Given the description of an element on the screen output the (x, y) to click on. 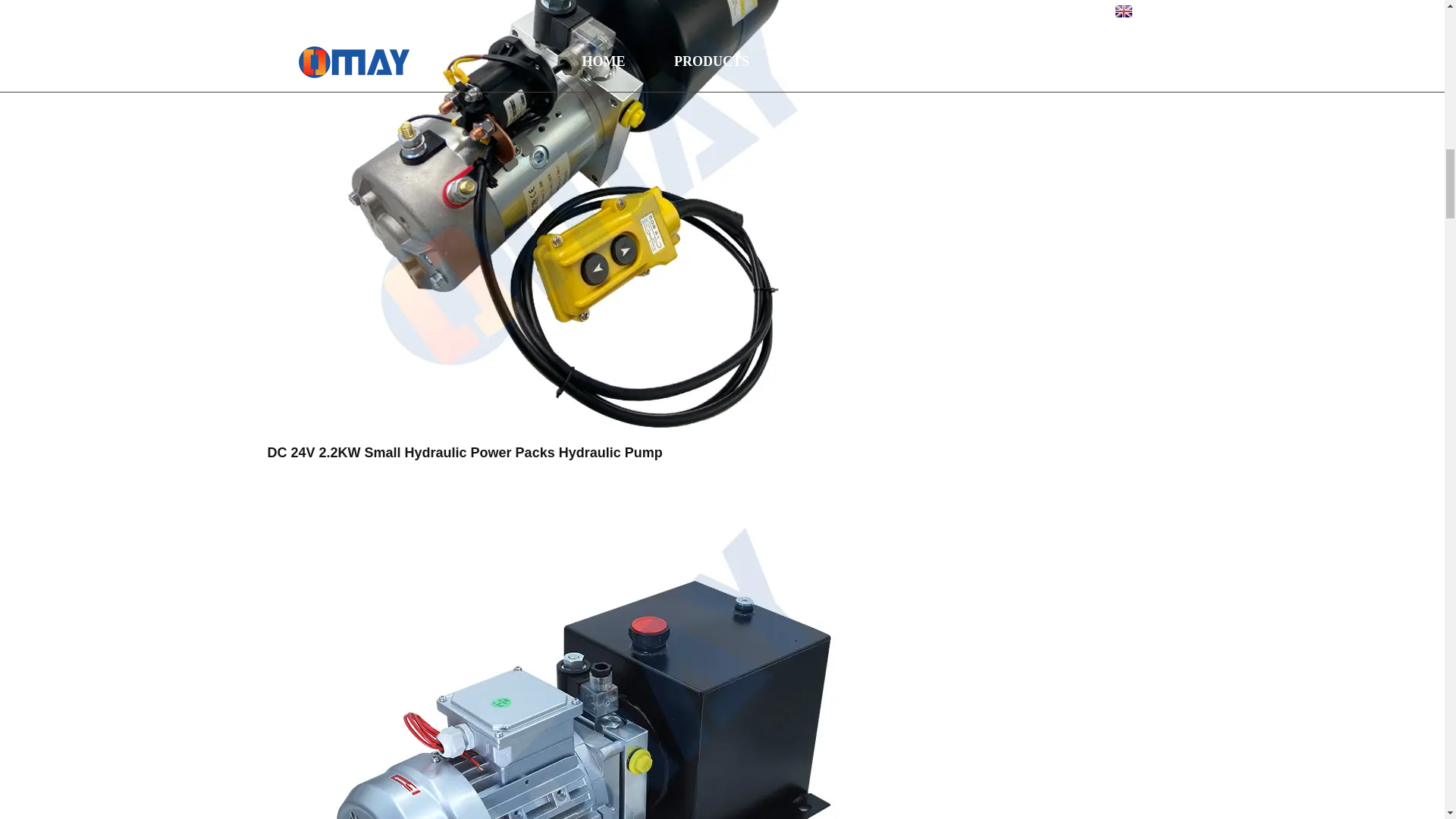
DC 24V 2.2KW Small Hydraulic Power Packs Hydraulic Pump (464, 452)
DC 24V 2.2KW Small Hydraulic Power Packs Hydraulic Pump (569, 135)
DC 24V 2.2KW Small Hydraulic Power Packs Hydraulic Pump (464, 452)
